Given the description of an element on the screen output the (x, y) to click on. 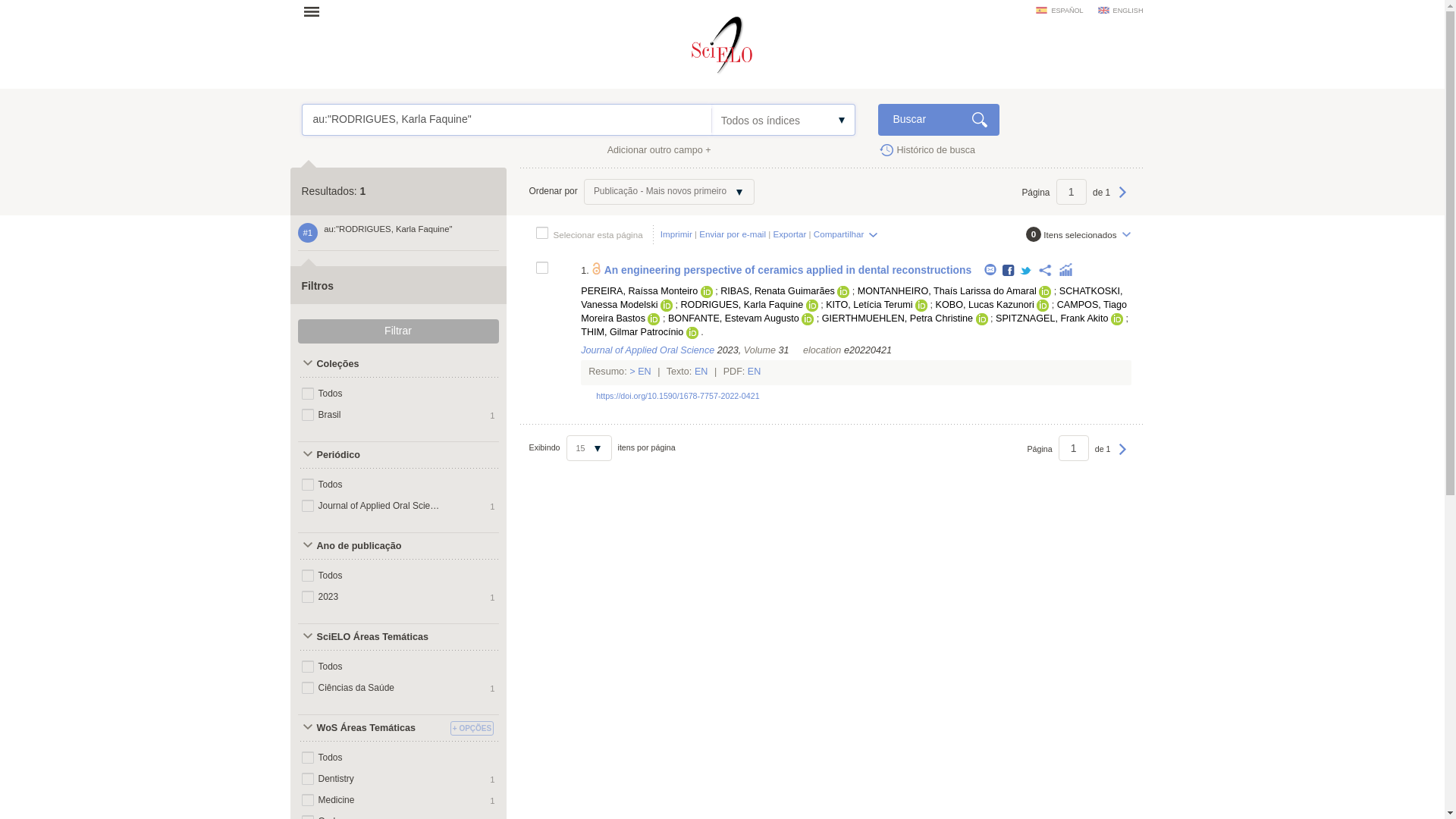
Exportar (789, 234)
1 (1073, 447)
Precisa de ajuda? (348, 112)
Filtrar (397, 331)
Buscar (937, 119)
Abrir menu (316, 11)
Buscar (937, 119)
1 (1071, 191)
Compartilhar Facebook (1008, 270)
